Given the description of an element on the screen output the (x, y) to click on. 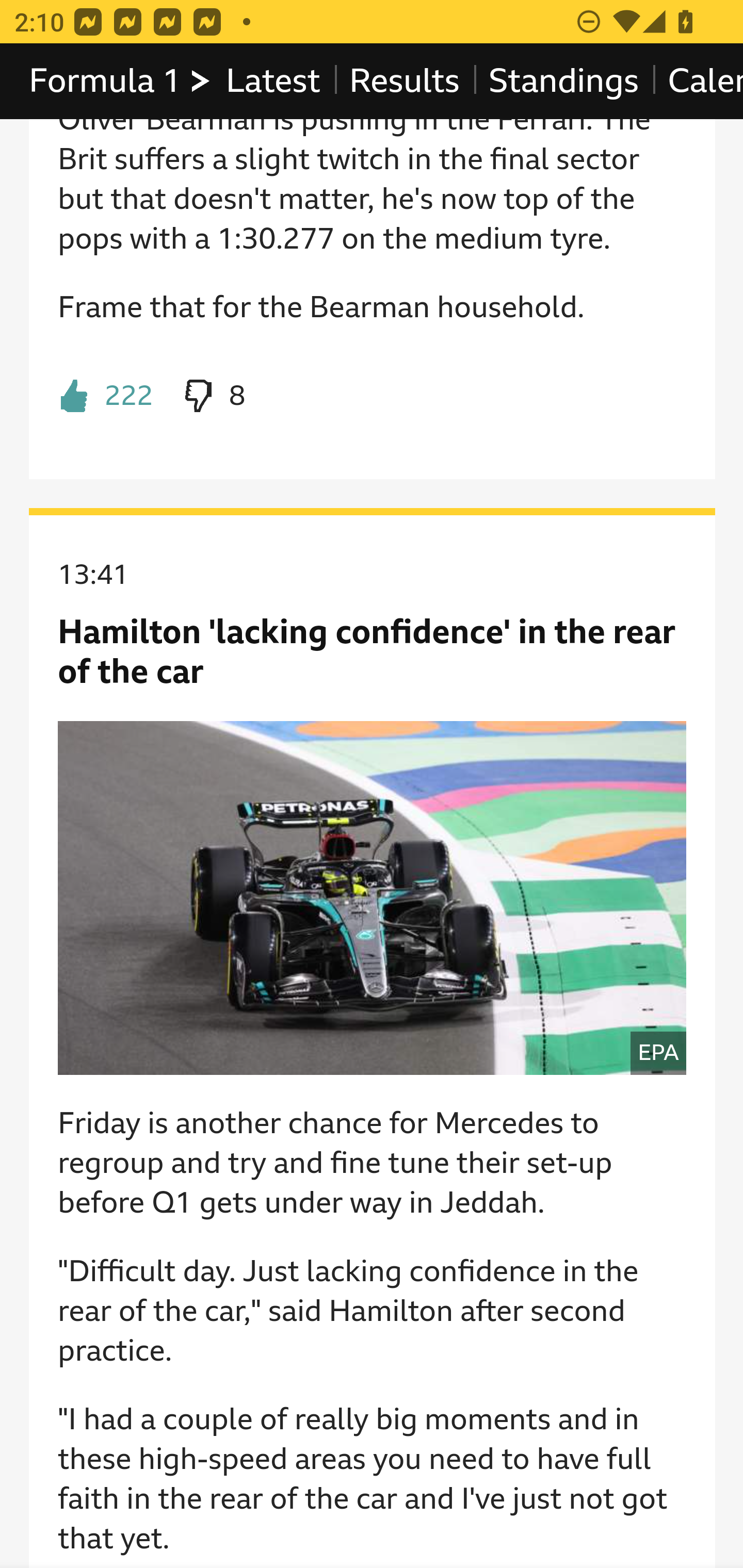
Liked (105, 396)
Dislike (212, 396)
